Given the description of an element on the screen output the (x, y) to click on. 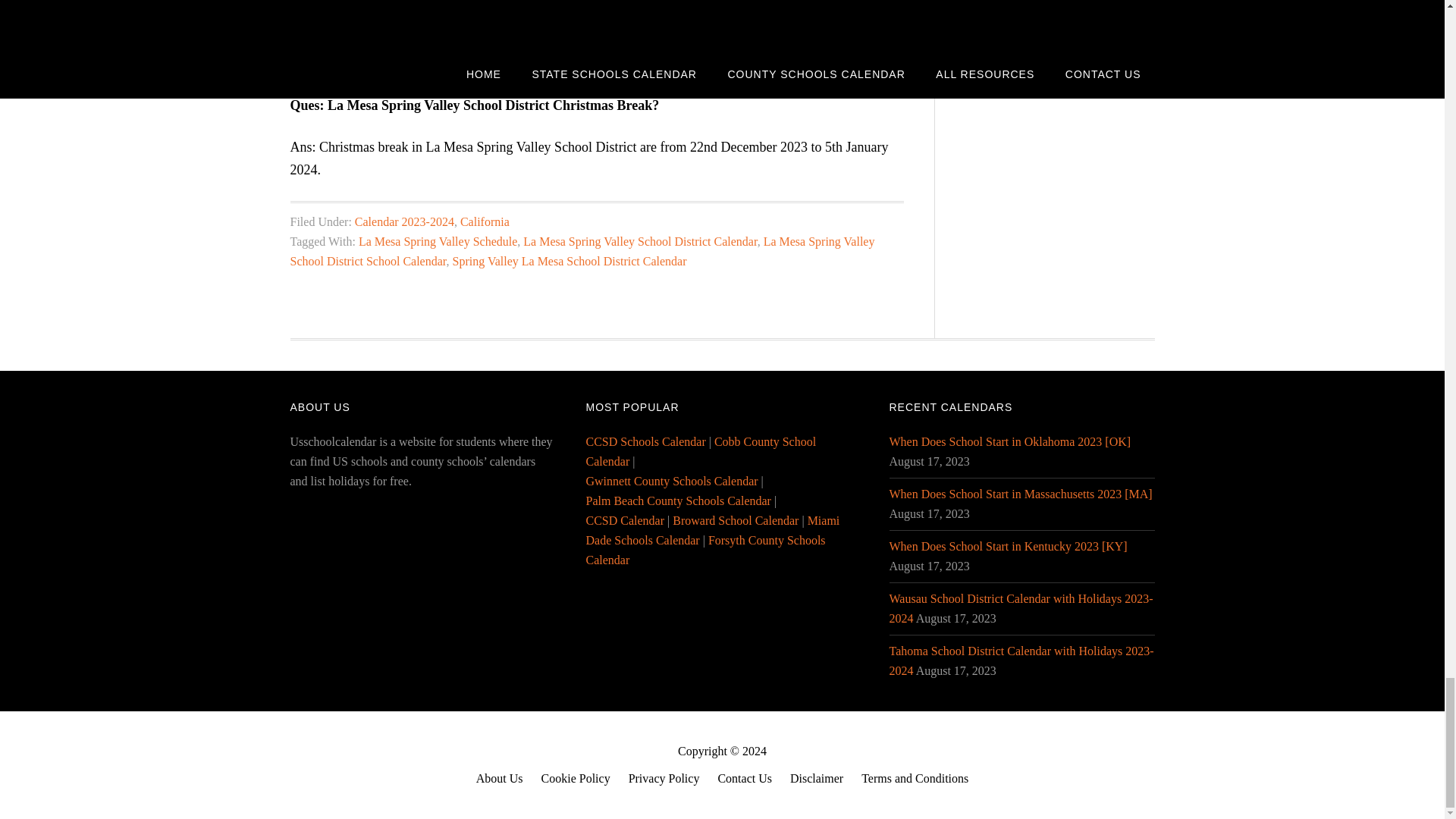
Calendar 2023-2024 (404, 221)
Spring Valley La Mesa School District Calendar (568, 260)
La Mesa Spring Valley Schedule (437, 241)
Broward School Calendar (734, 520)
Palm Beach County Schools Calendar (677, 500)
CCSD Calendar (624, 520)
Cobb County School Calendar (700, 450)
La Mesa Spring Valley School District Calendar (639, 241)
La Mesa Spring Valley School District School Calendar (582, 251)
CCSD Schools Calendar (644, 440)
